Given the description of an element on the screen output the (x, y) to click on. 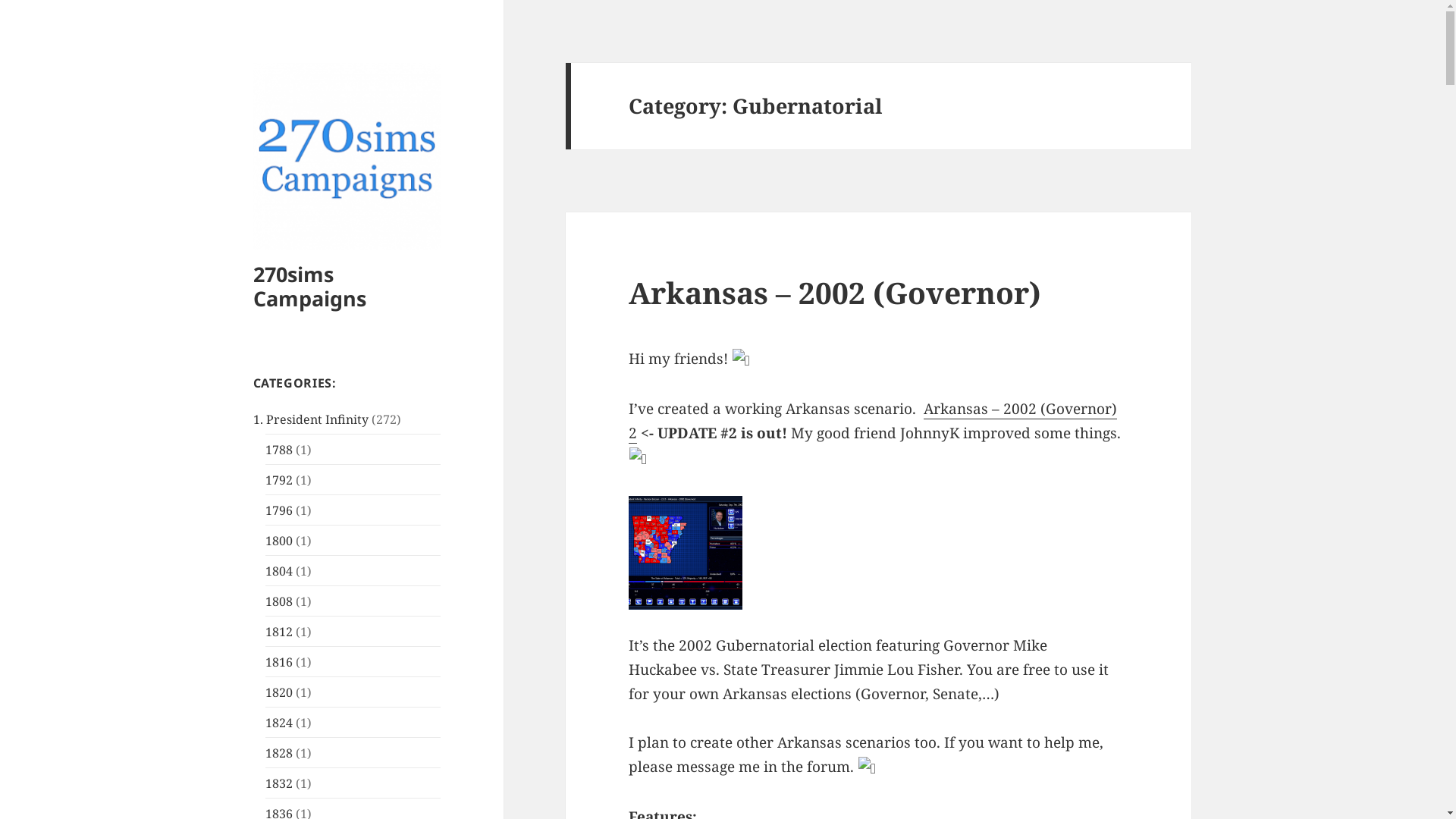
1812 Element type: text (278, 631)
1792 Element type: text (278, 479)
1808 Element type: text (278, 601)
1828 Element type: text (278, 752)
1816 Element type: text (278, 661)
1832 Element type: text (278, 783)
1788 Element type: text (278, 449)
1804 Element type: text (278, 570)
270sims Campaigns Element type: text (309, 286)
1. President Infinity Element type: text (310, 419)
1824 Element type: text (278, 722)
1800 Element type: text (278, 540)
1820 Element type: text (278, 692)
1796 Element type: text (278, 510)
